Given the description of an element on the screen output the (x, y) to click on. 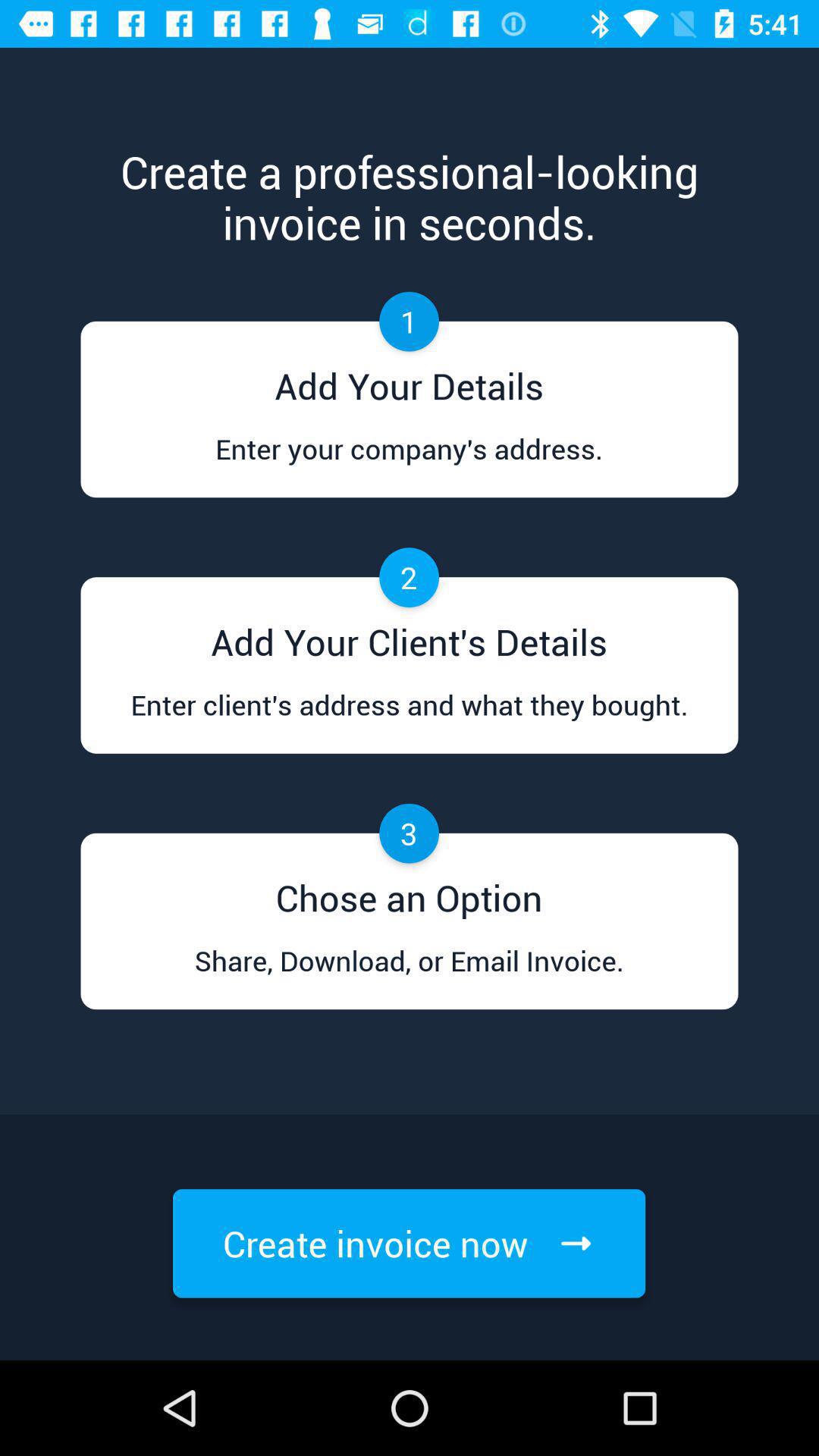
click chose an option (408, 892)
